Given the description of an element on the screen output the (x, y) to click on. 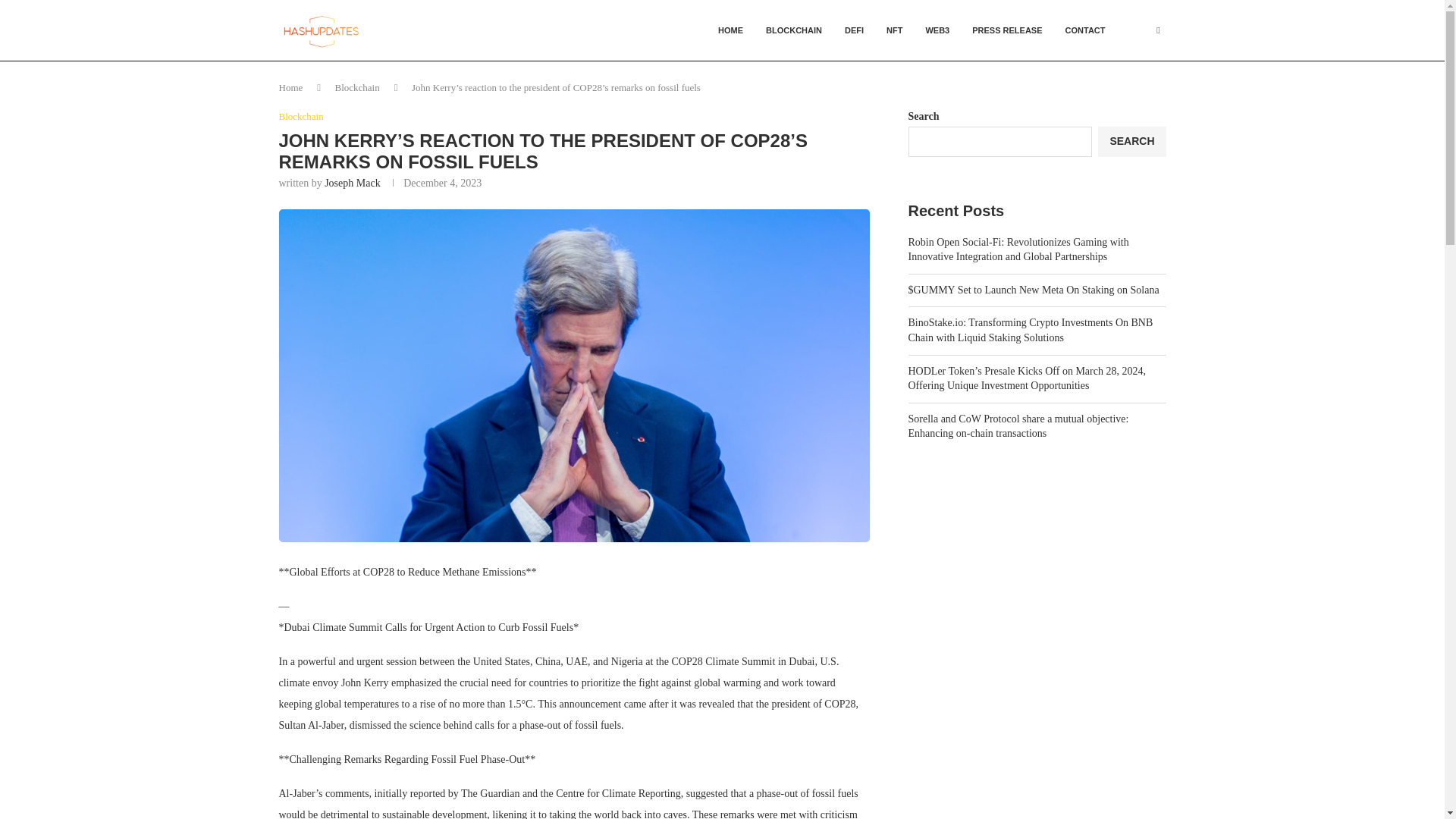
BLOCKCHAIN (793, 30)
Joseph Mack (352, 183)
CONTACT (1085, 30)
PRESS RELEASE (1006, 30)
Home (290, 87)
Blockchain (357, 87)
Blockchain (301, 116)
